Given the description of an element on the screen output the (x, y) to click on. 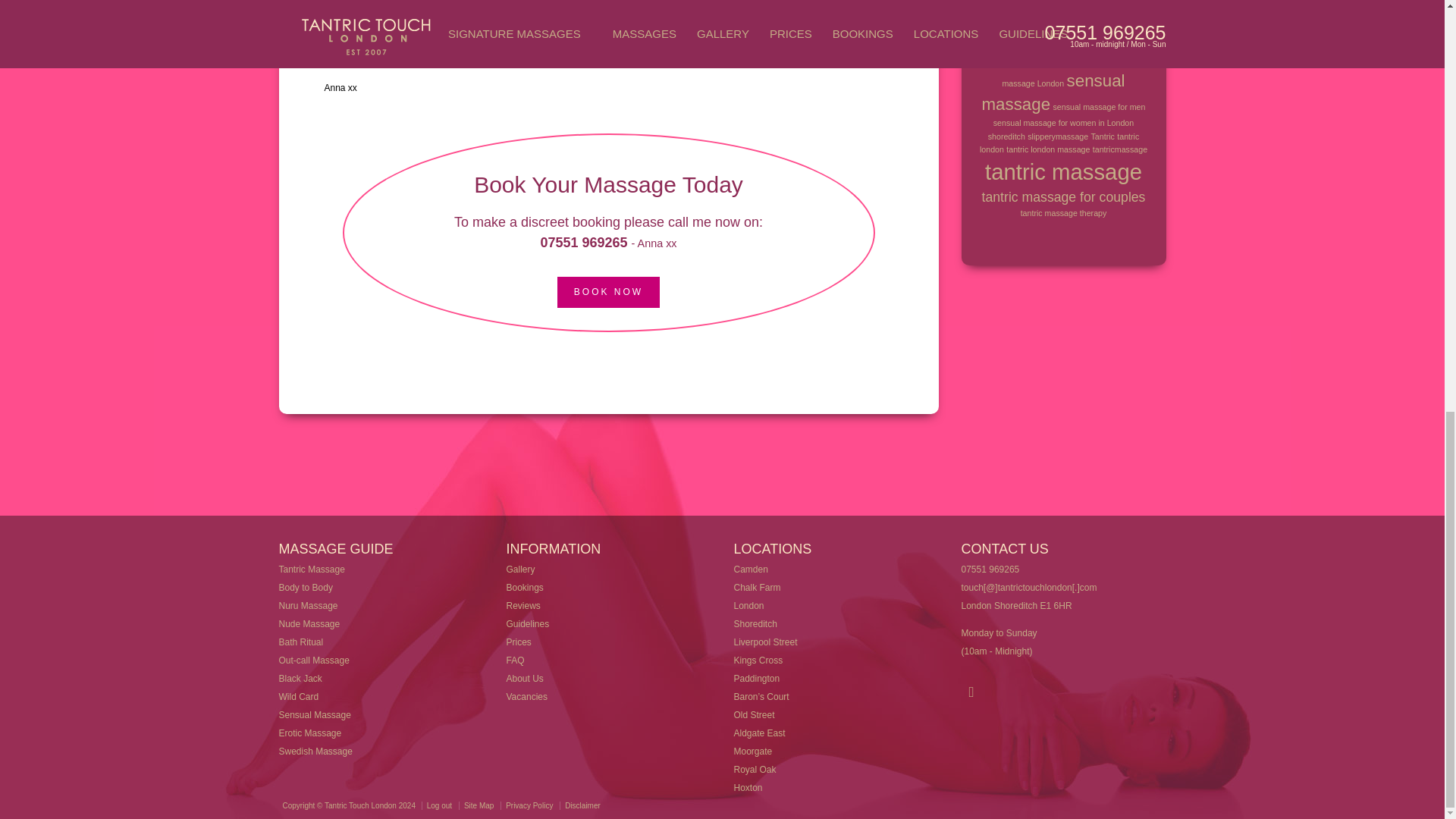
BOOK NOW (608, 291)
Book massage (608, 291)
